Given the description of an element on the screen output the (x, y) to click on. 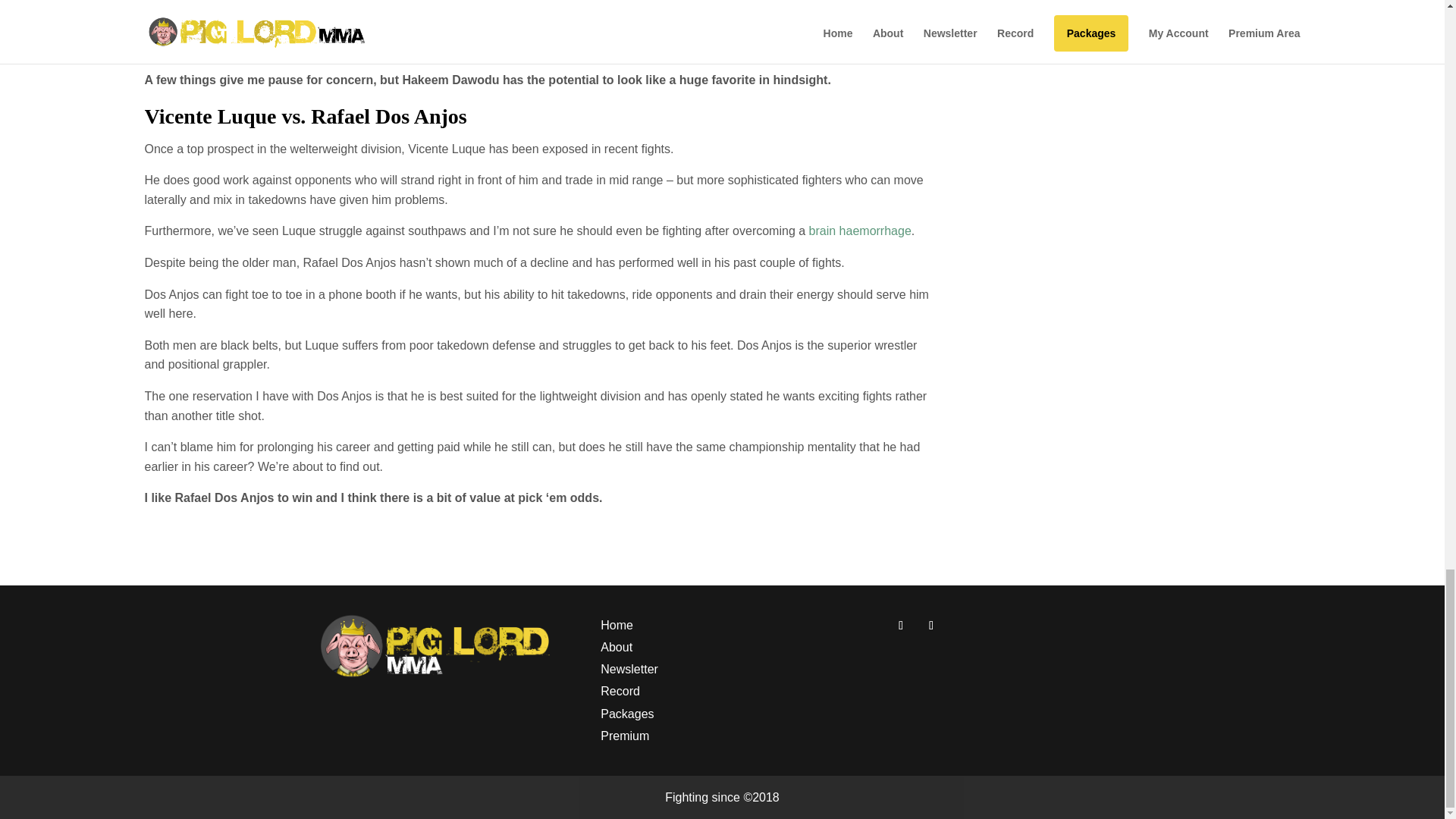
Newsletter (628, 668)
Follow on Facebook (900, 625)
Premium (624, 735)
Home (616, 625)
Packages (626, 713)
Record (619, 690)
About (615, 646)
brain haemorrhage (860, 230)
Follow on Twitter (930, 625)
